Given the description of an element on the screen output the (x, y) to click on. 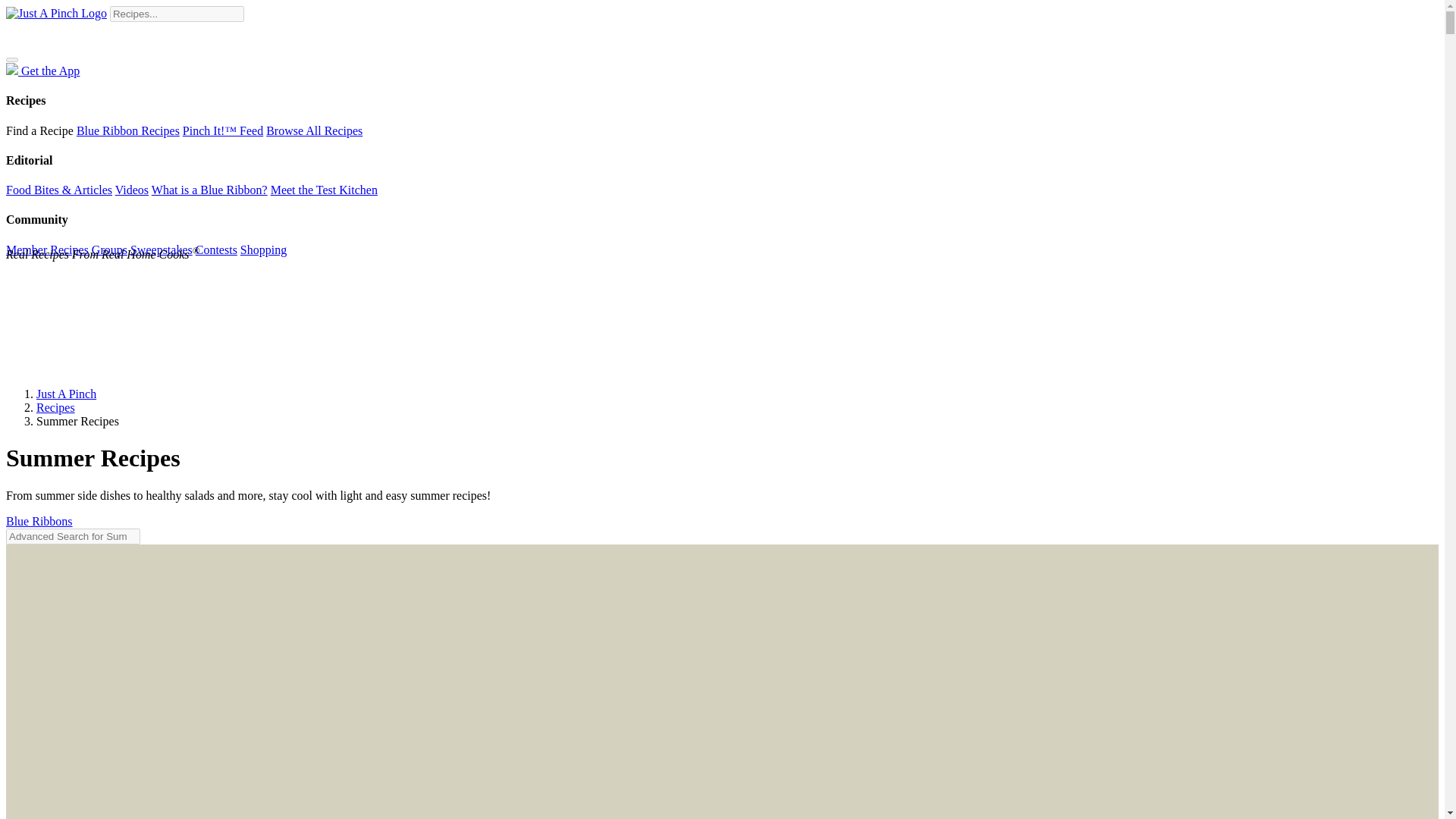
Just A Pinch (55, 13)
Find a Recipe (39, 130)
Videos (131, 189)
Recipes (55, 407)
Blue Ribbon Recipes (128, 130)
What is a Blue Ribbon? (209, 189)
Just A Pinch (66, 393)
Groups (109, 249)
Get the App (42, 70)
Member Recipes (46, 249)
